Given the description of an element on the screen output the (x, y) to click on. 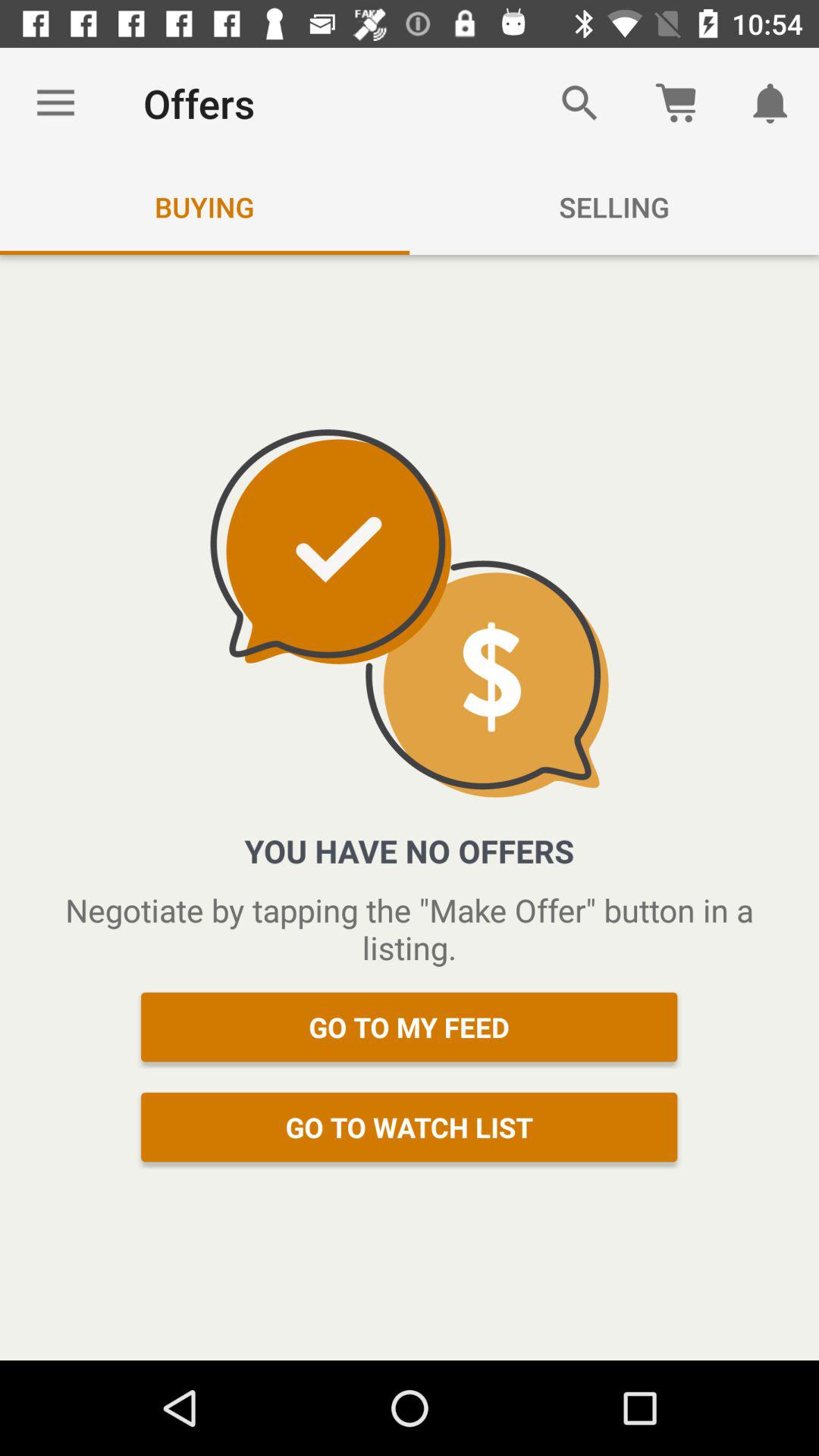
launch the item next to the offers (579, 103)
